Given the description of an element on the screen output the (x, y) to click on. 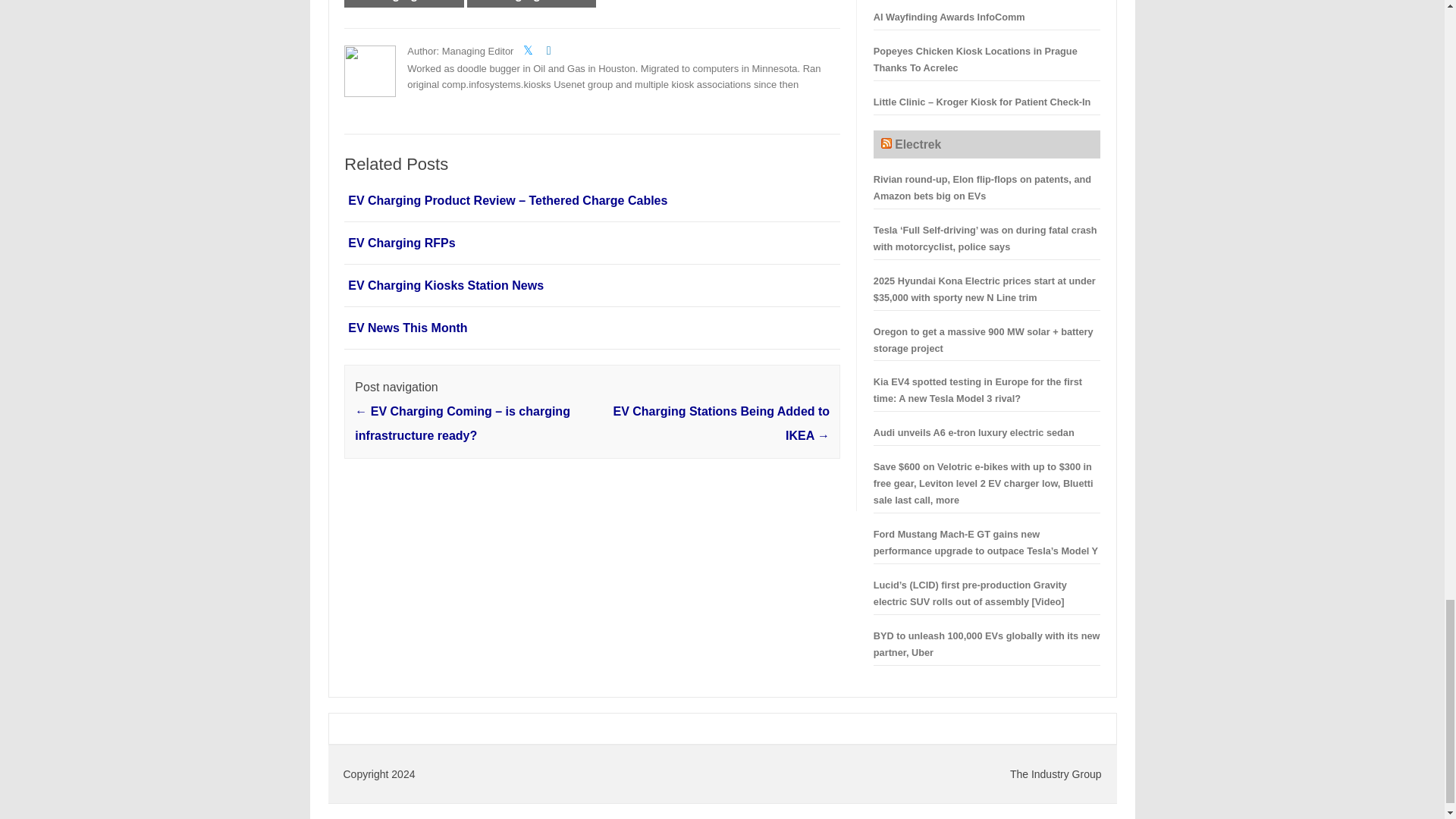
EV Charging Kiosks Station News (445, 285)
EV Charging RFPs (400, 242)
ev charging stations (531, 3)
EV News This Month (407, 327)
ev charging kiosks (403, 3)
EV Charging Kiosks Station News (445, 285)
EV News This Month (407, 327)
EV Charging RFPs (400, 242)
